Given the description of an element on the screen output the (x, y) to click on. 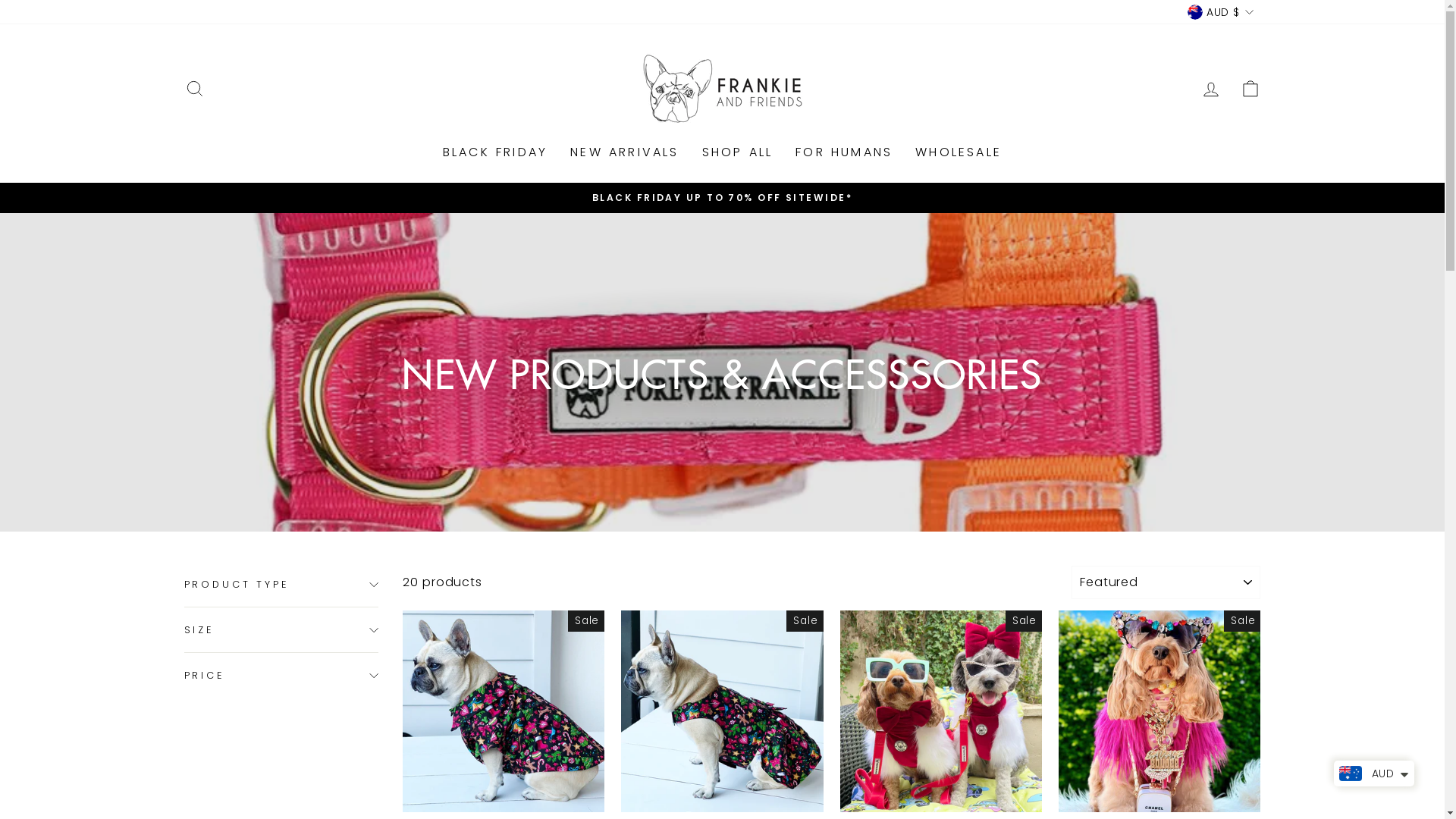
SHOP ALL Element type: text (737, 152)
FOR HUMANS Element type: text (843, 152)
CART Element type: text (1249, 88)
Skip to content Element type: text (0, 0)
WHOLESALE Element type: text (958, 152)
SEARCH Element type: text (193, 88)
SIZE Element type: text (280, 629)
BLACK FRIDAY Element type: text (494, 152)
AUD $ Element type: text (1220, 12)
LOG IN Element type: text (1210, 88)
NEW ARRIVALS Element type: text (624, 152)
PRODUCT TYPE Element type: text (280, 583)
PRICE Element type: text (280, 674)
